Given the description of an element on the screen output the (x, y) to click on. 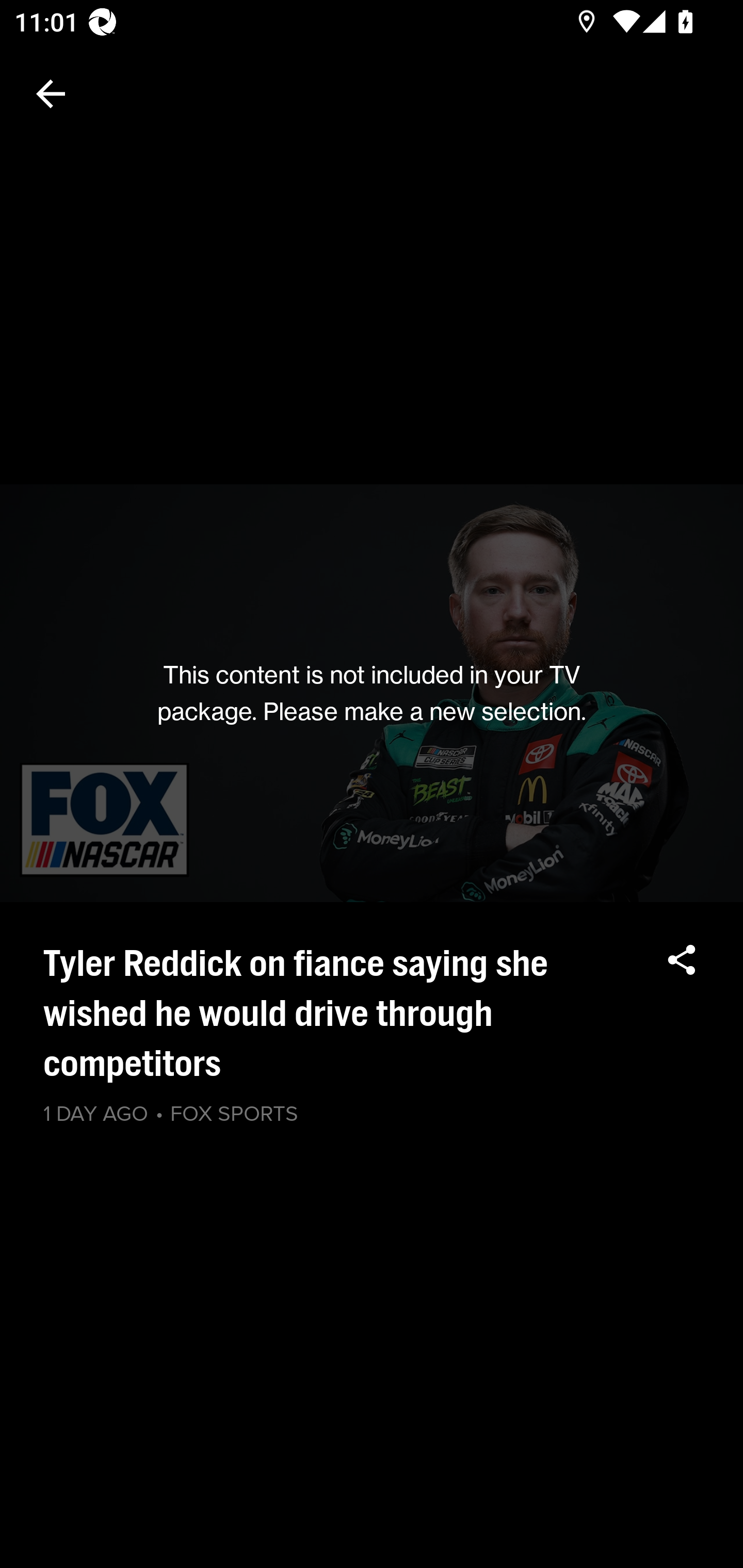
Navigate up (50, 93)
